Given the description of an element on the screen output the (x, y) to click on. 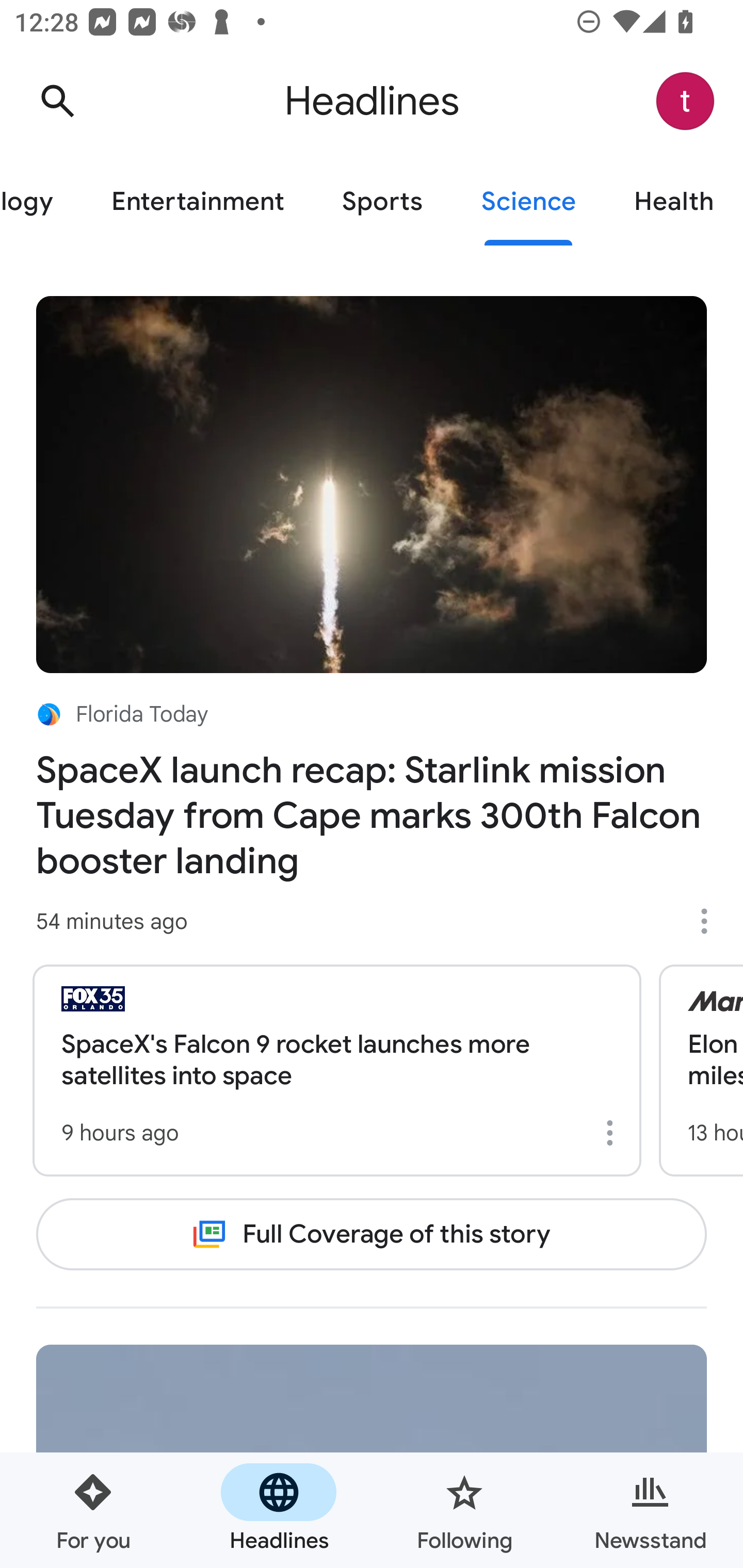
Search (57, 100)
Technology (40, 202)
Entertainment (197, 202)
Sports (382, 202)
Health (673, 202)
More options (711, 921)
More options (613, 1132)
Full Coverage of this story (371, 1233)
For you (92, 1509)
Headlines (278, 1509)
Following (464, 1509)
Newsstand (650, 1509)
